Given the description of an element on the screen output the (x, y) to click on. 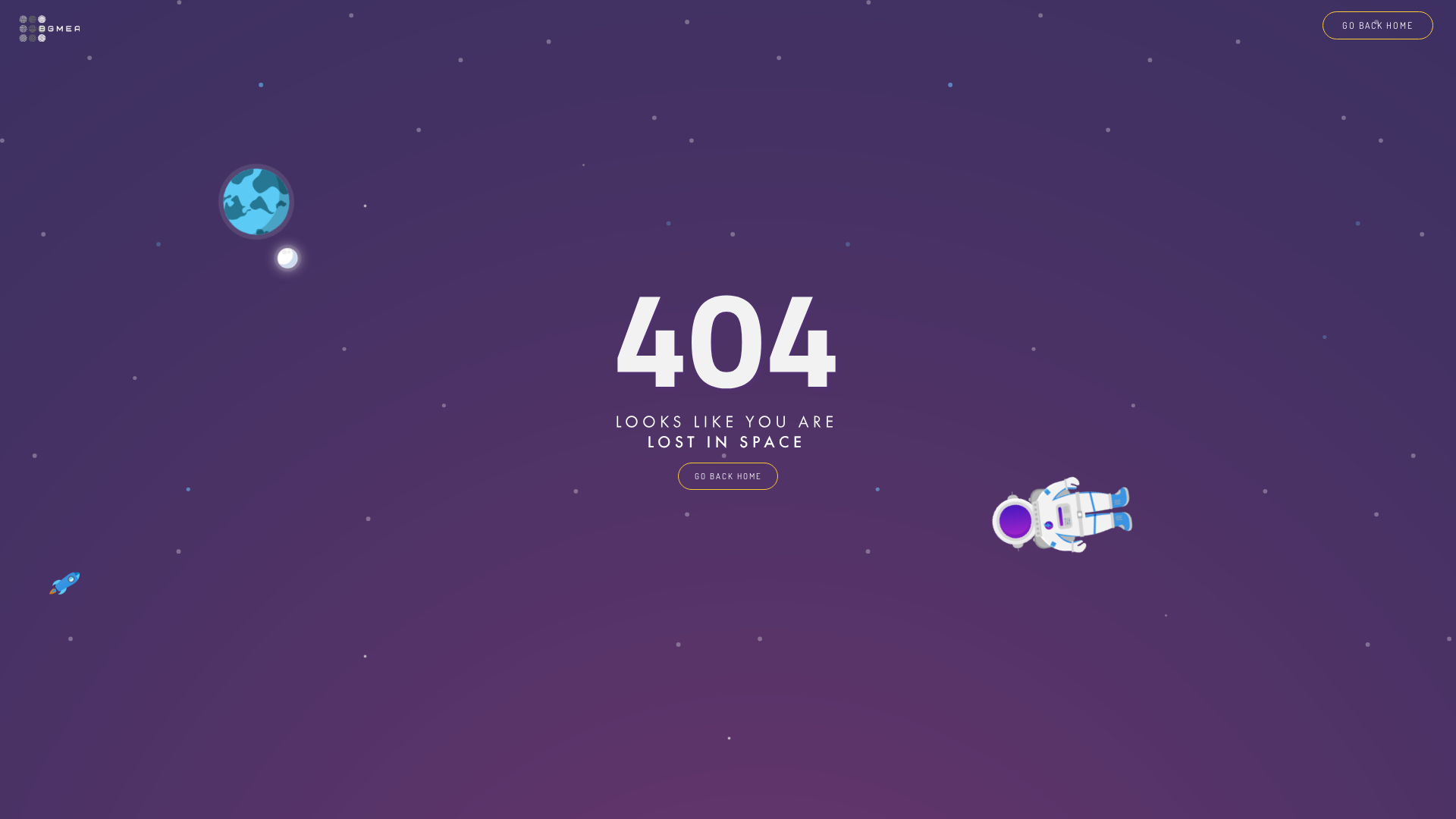
GO BACK HOME Element type: text (727, 475)
GO BACK HOME Element type: text (1377, 25)
